Given the description of an element on the screen output the (x, y) to click on. 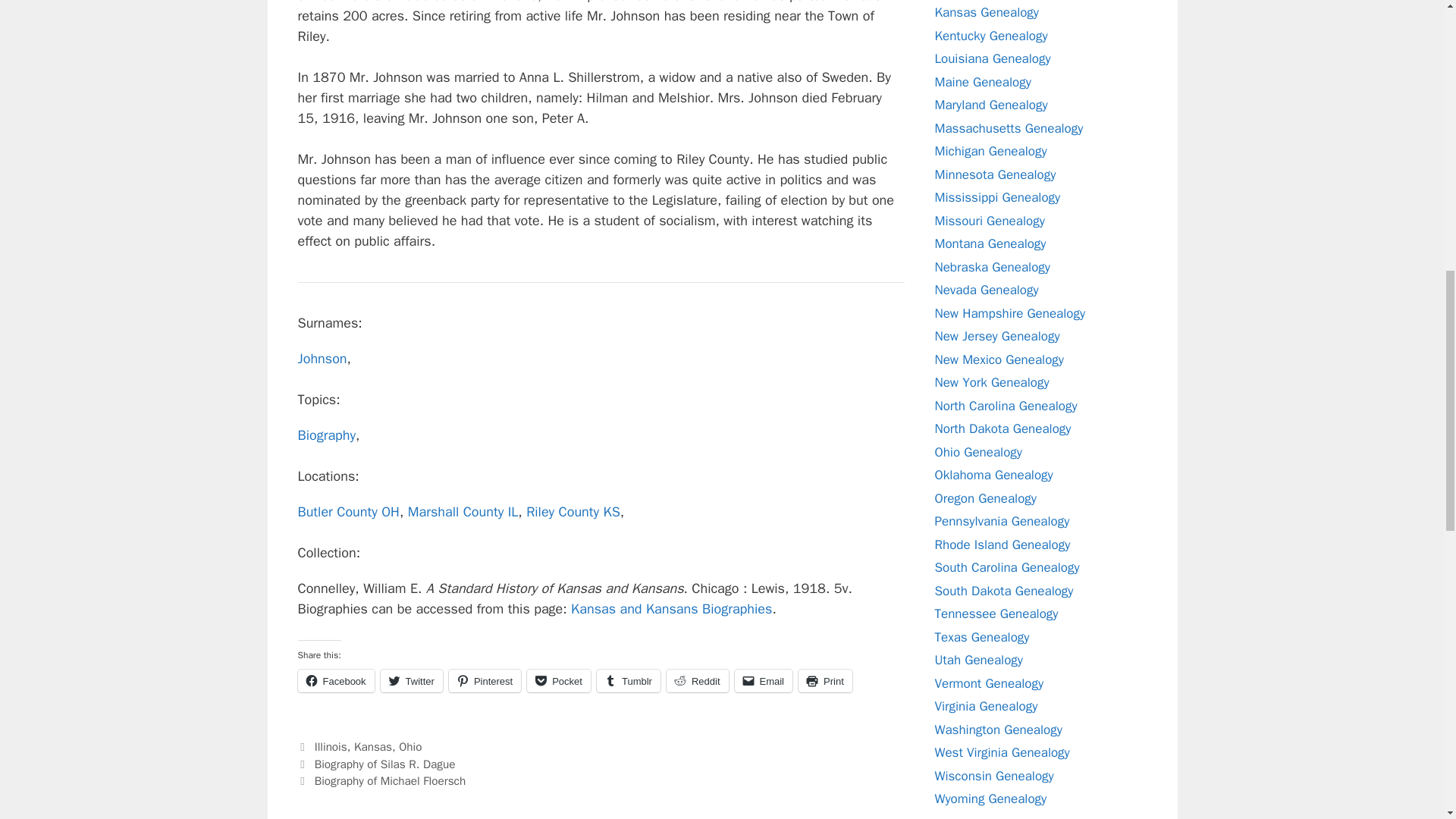
Kansas and Kansans Biographies (670, 608)
Facebook (335, 680)
Click to share on Facebook (335, 680)
Marshall County IL (462, 511)
Tumblr (628, 680)
Ohio (410, 746)
Kansas (372, 746)
Biography (326, 434)
Pocket (559, 680)
Pinterest (484, 680)
